Given the description of an element on the screen output the (x, y) to click on. 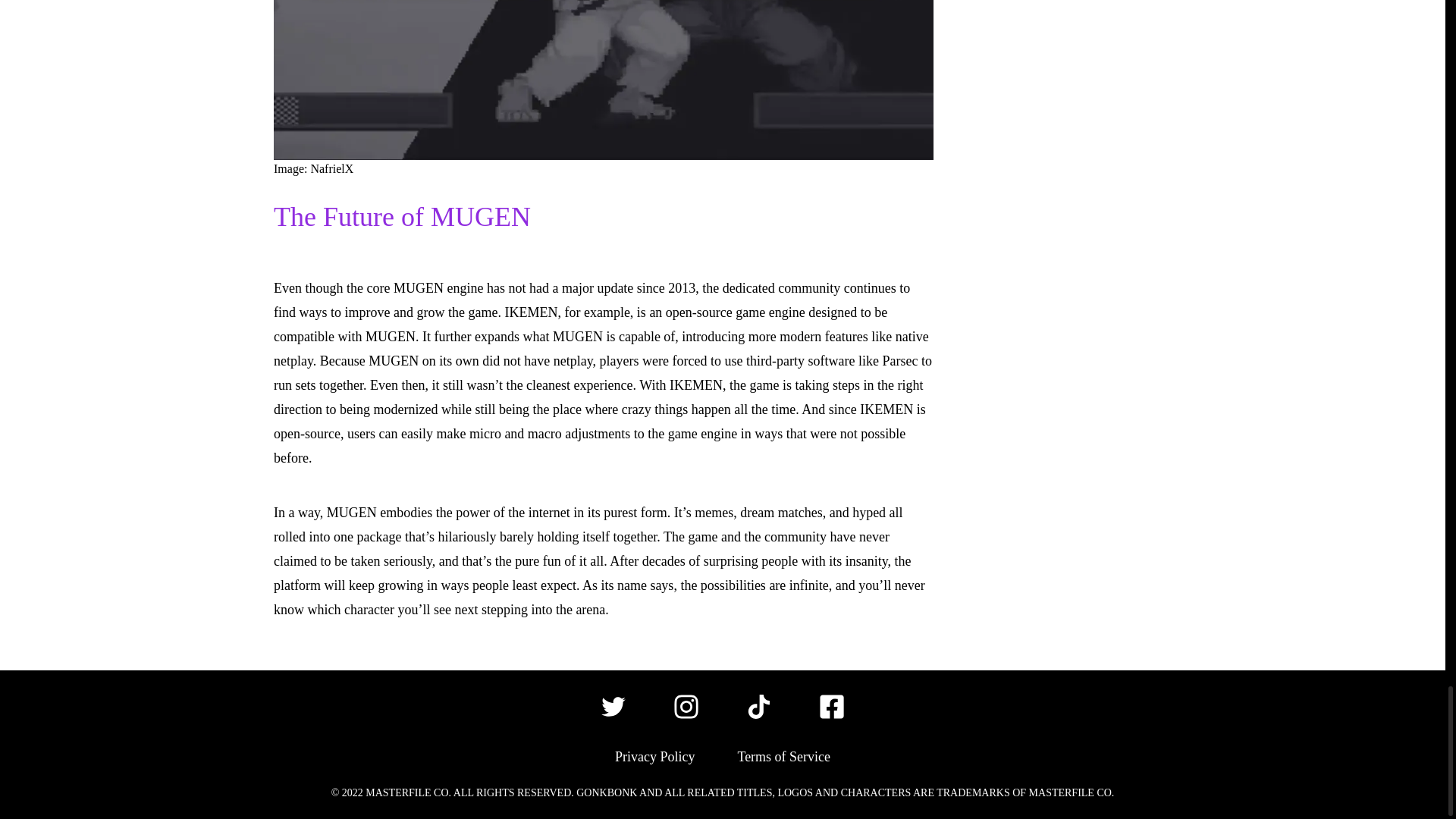
Terms of Service (782, 756)
Privacy Policy (654, 756)
